Given the description of an element on the screen output the (x, y) to click on. 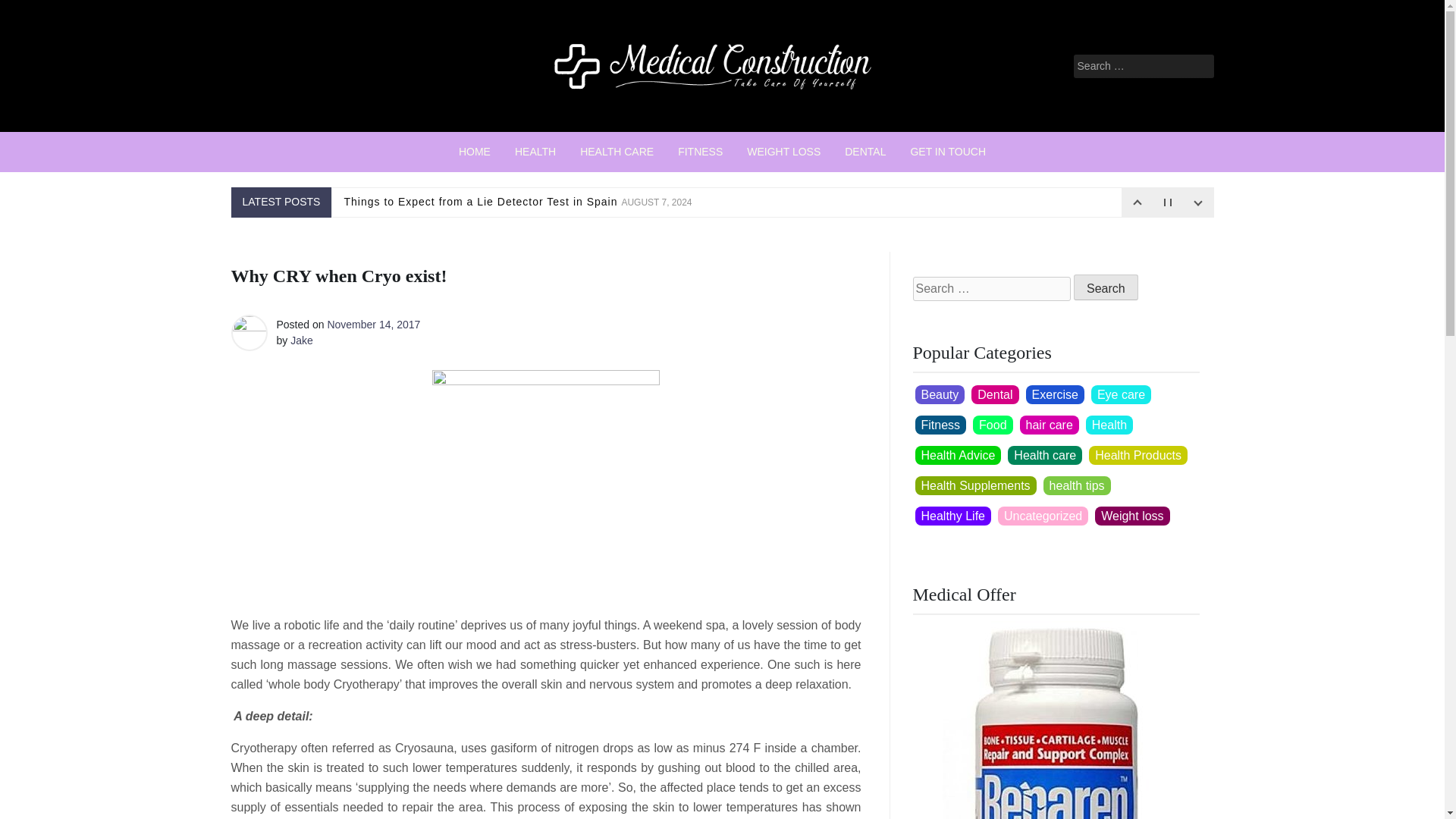
Health Advice (957, 455)
Search (1106, 287)
Search (1106, 287)
FITNESS (700, 151)
GET IN TOUCH (947, 151)
Beauty (938, 394)
Health (1109, 424)
Eye care (1120, 394)
Dental (994, 394)
Exercise (1055, 394)
